Given the description of an element on the screen output the (x, y) to click on. 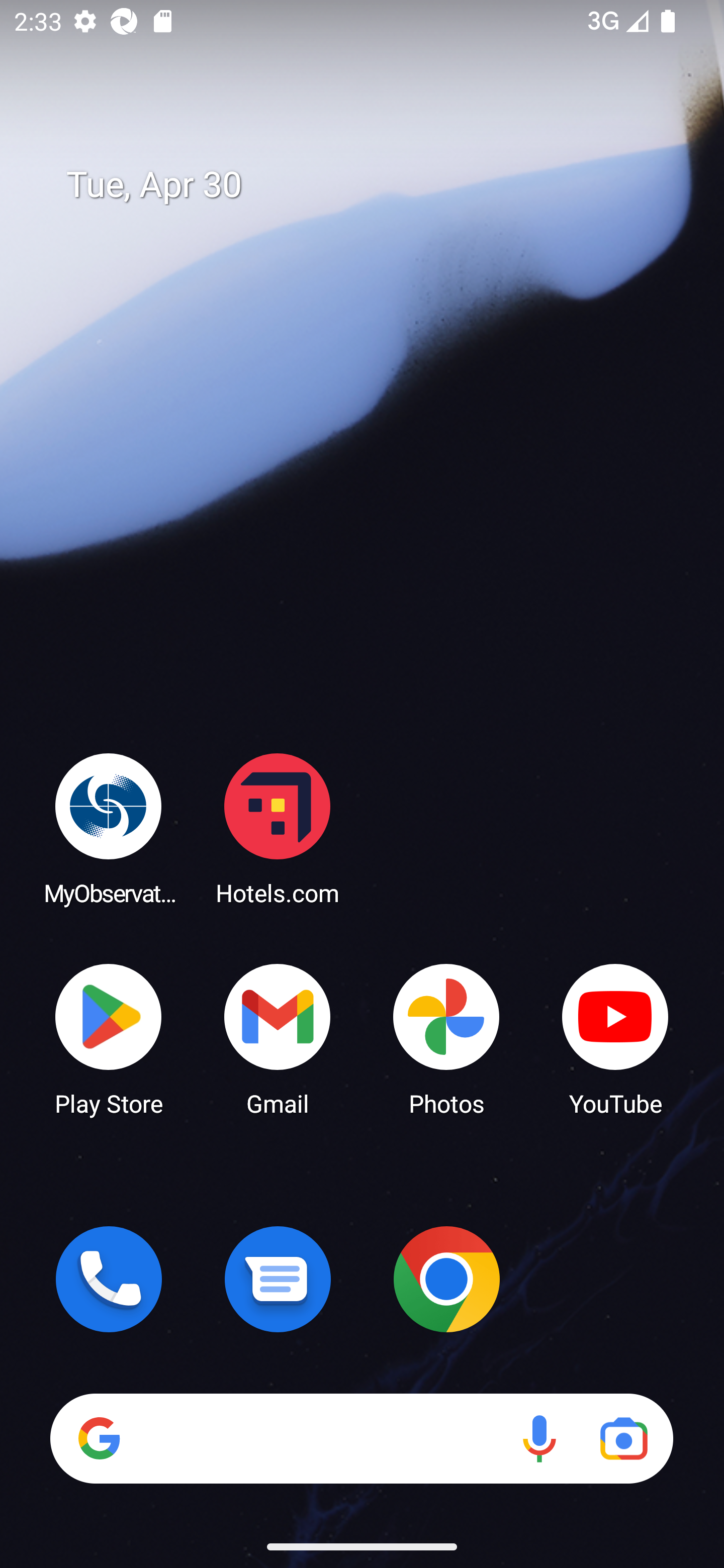
Tue, Apr 30 (375, 184)
MyObservatory (108, 828)
Hotels.com (277, 828)
Play Store (108, 1038)
Gmail (277, 1038)
Photos (445, 1038)
YouTube (615, 1038)
Phone (108, 1279)
Messages (277, 1279)
Chrome (446, 1279)
Search Voice search Google Lens (361, 1438)
Voice search (539, 1438)
Google Lens (623, 1438)
